Given the description of an element on the screen output the (x, y) to click on. 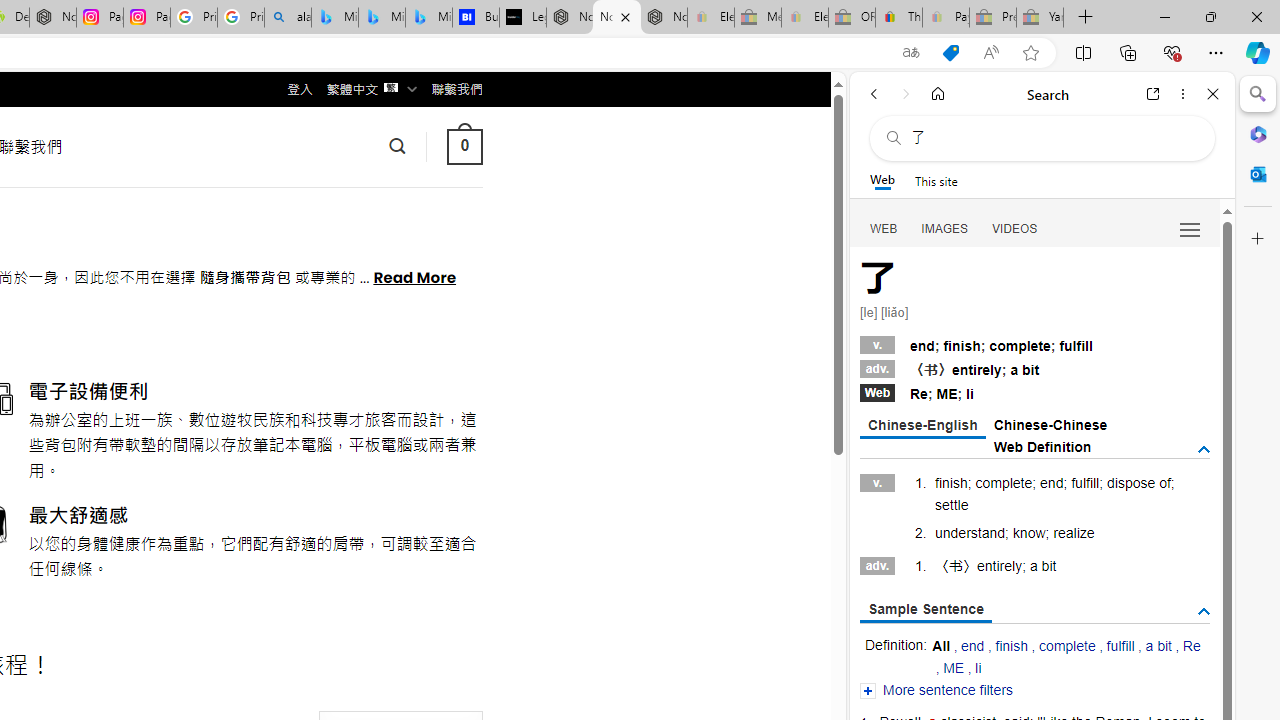
complete (1066, 645)
entirely (999, 565)
Web Definition (1042, 446)
alabama high school quarterback dies - Search (288, 17)
This site has coupons! Shopping in Microsoft Edge (950, 53)
of (1164, 483)
